Given the description of an element on the screen output the (x, y) to click on. 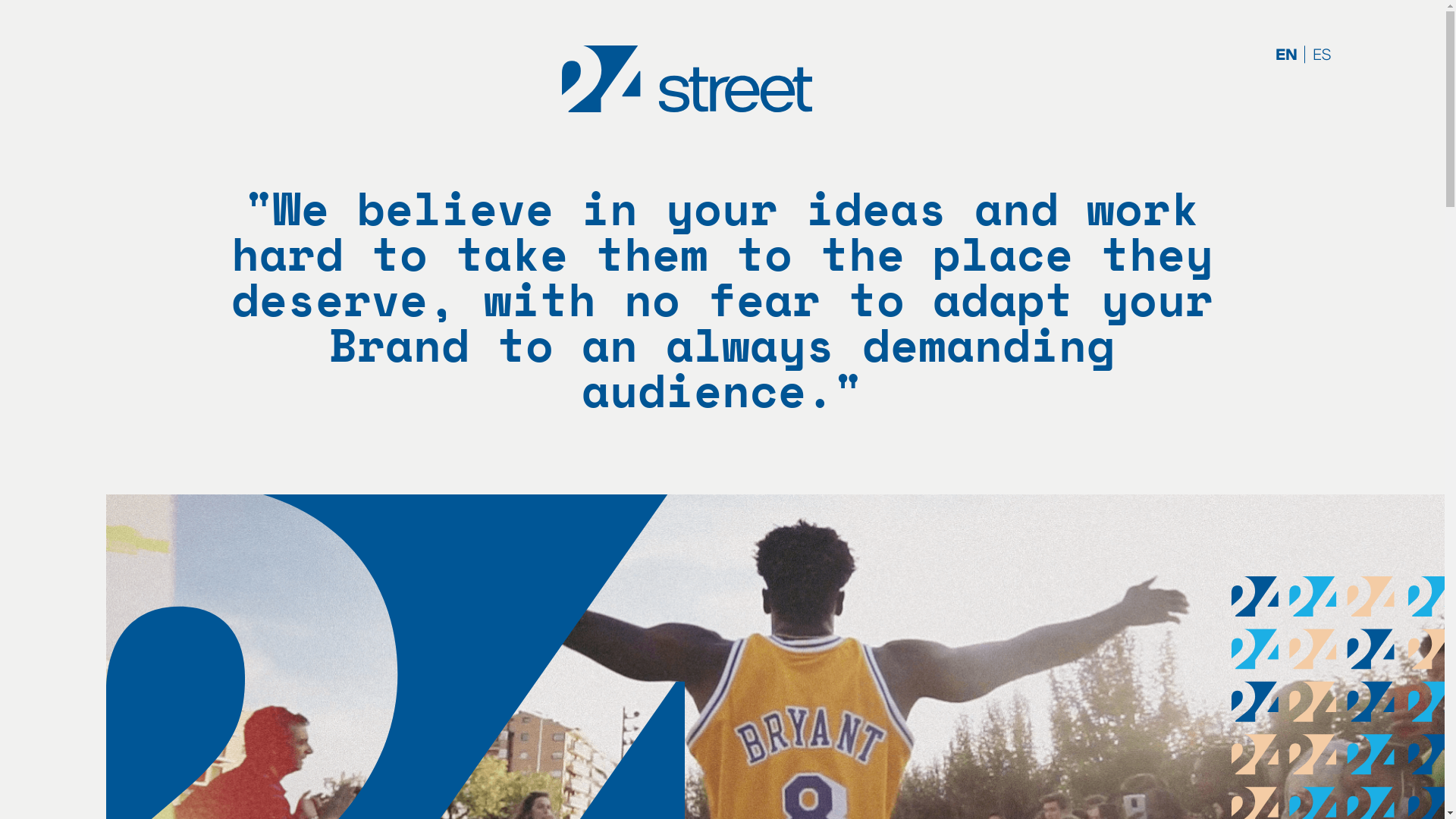
EN Element type: text (1286, 54)
ES Element type: text (1321, 54)
